Given the description of an element on the screen output the (x, y) to click on. 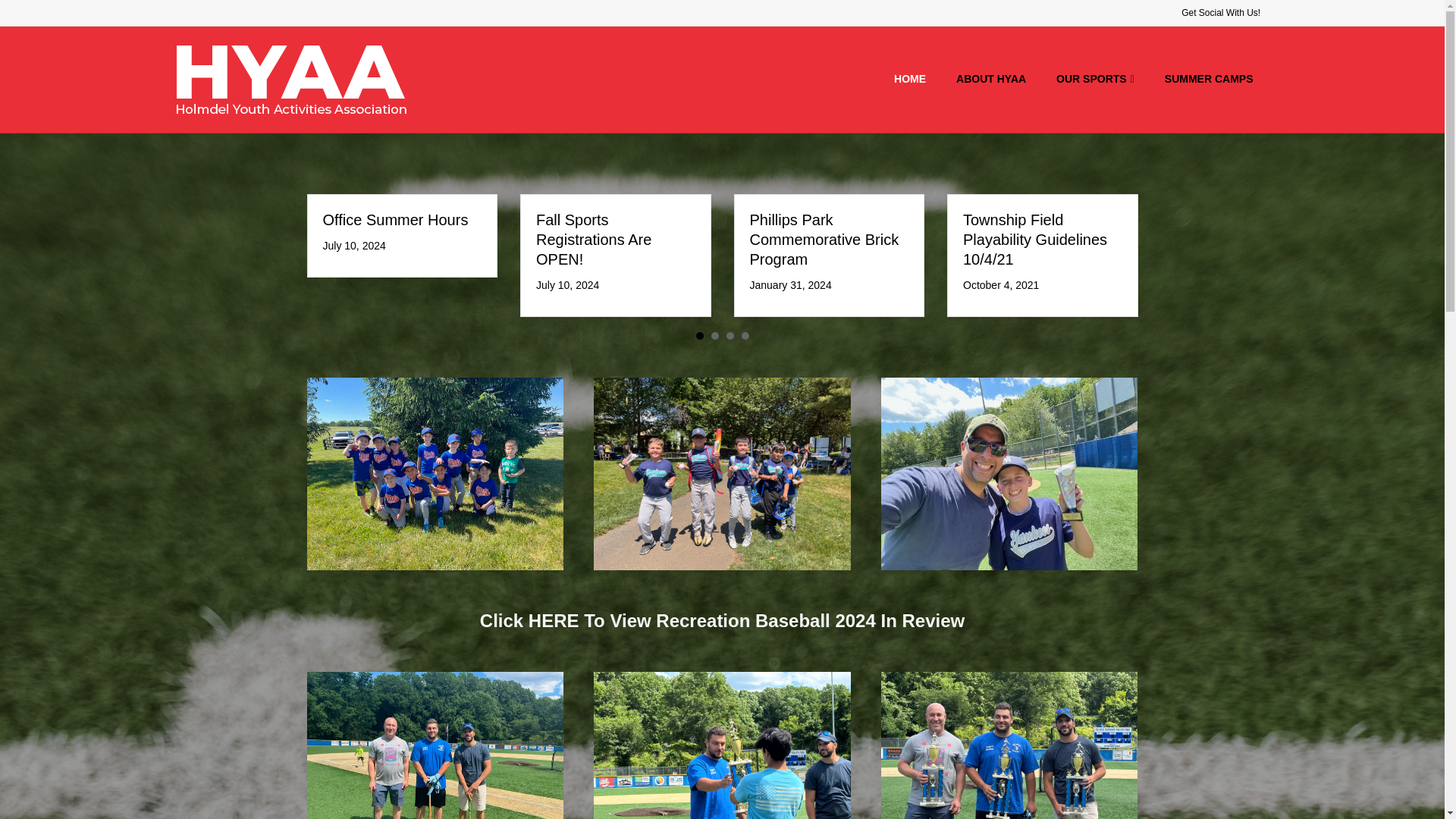
Office Summer Hours (395, 219)
HOME (909, 79)
Phillips Park Commemorative Brick Program (823, 239)
The rookie Mets (434, 473)
Major 1 all-star winners-2 (722, 473)
Office Summer Hours (395, 219)
OUR SPORTS (1095, 79)
Fall Sports Registrations Are OPEN! (592, 239)
ABOUT HYAA (990, 79)
Fall Sports Registrations are OPEN! (592, 239)
